Given the description of an element on the screen output the (x, y) to click on. 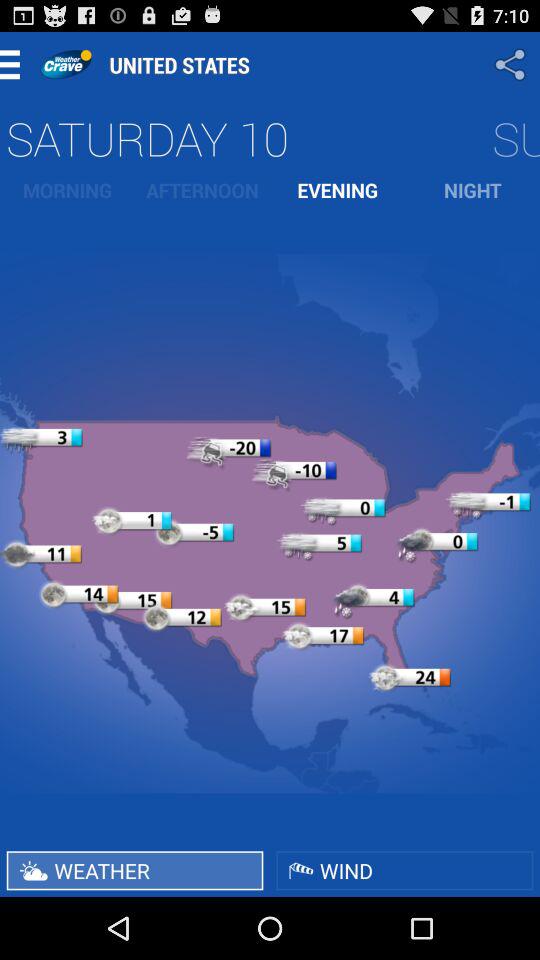
tap night app (472, 190)
